Given the description of an element on the screen output the (x, y) to click on. 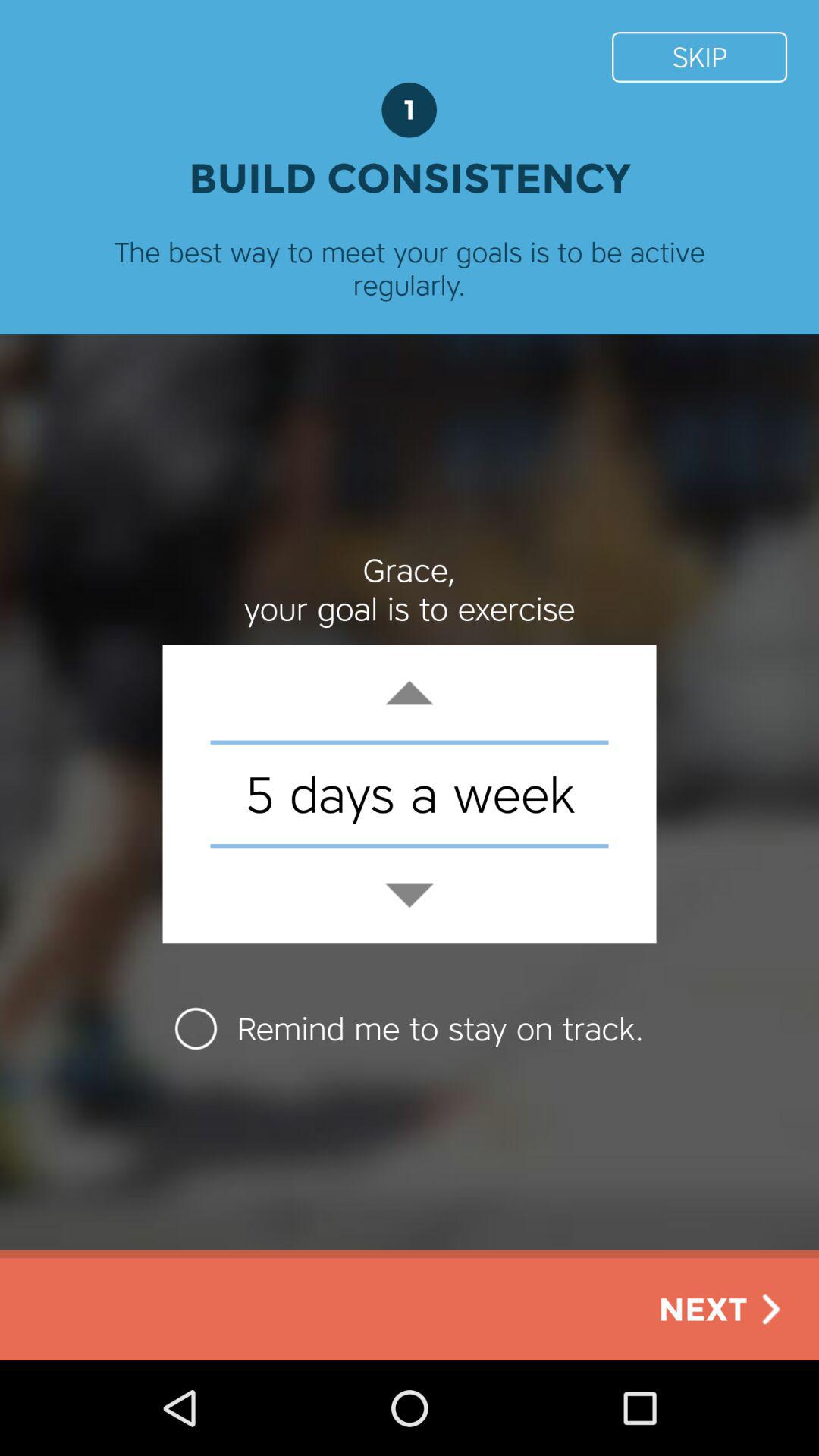
click the item above build consistency icon (699, 56)
